Given the description of an element on the screen output the (x, y) to click on. 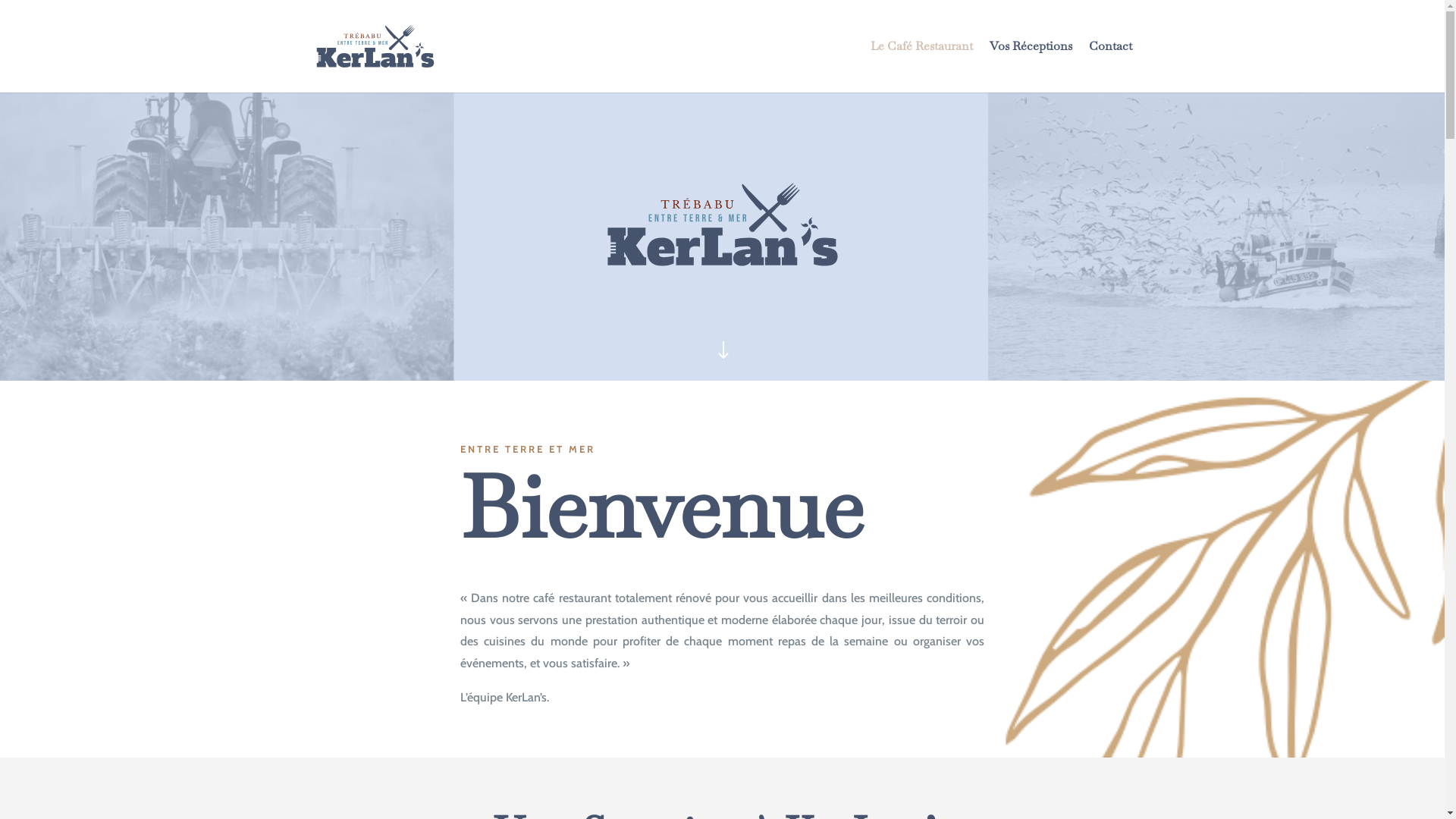
" Element type: text (722, 351)
Contact Element type: text (1110, 66)
